Given the description of an element on the screen output the (x, y) to click on. 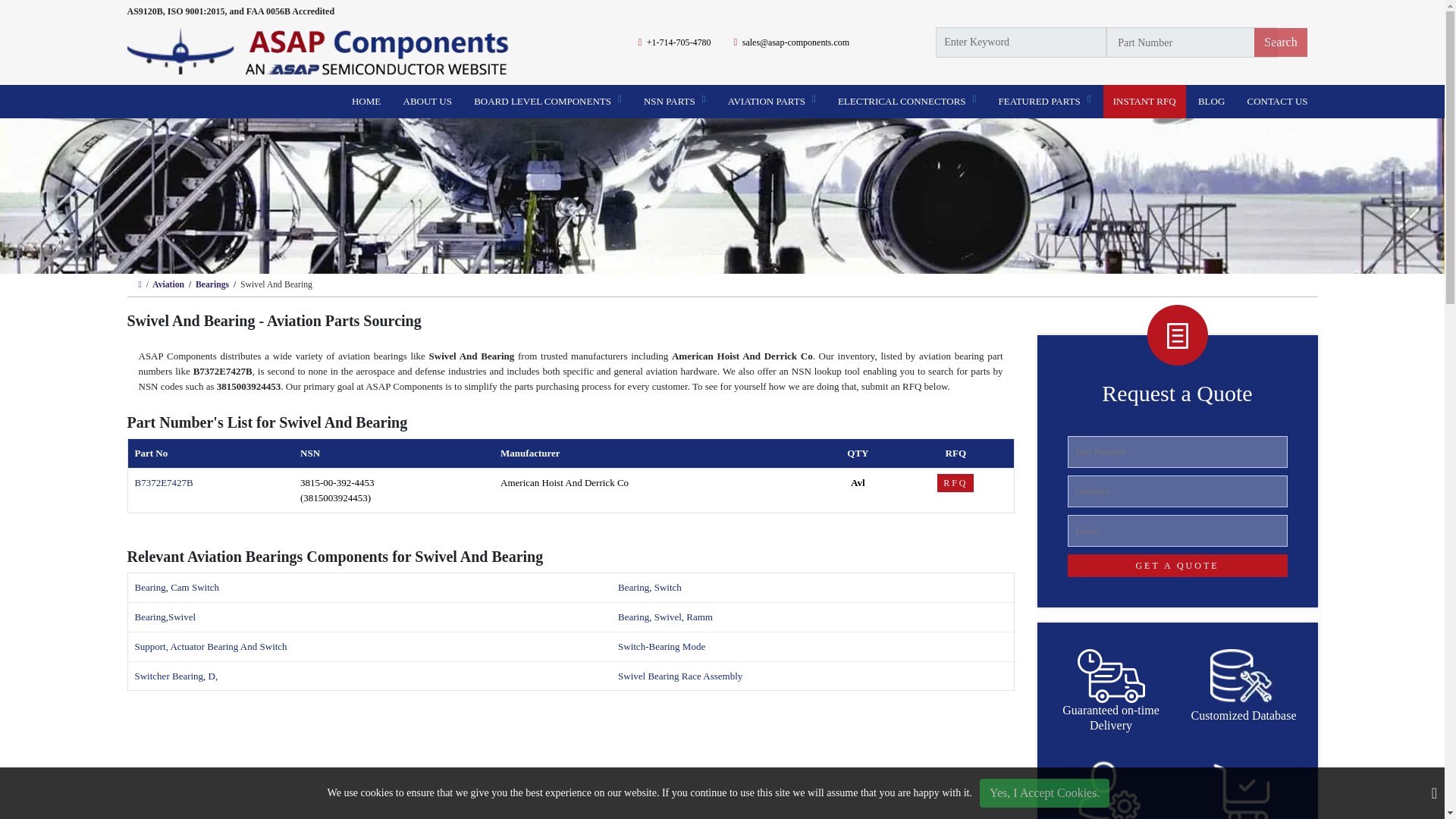
INSTANT RFQ (1144, 101)
CONTACT US (1277, 101)
ELECTRICAL CONNECTORS (906, 101)
Search (1280, 41)
NSN PARTS (674, 101)
BOARD LEVEL COMPONENTS (547, 101)
FEATURED PARTS (1044, 101)
HOME (366, 101)
BLOG (1211, 101)
ABOUT US (427, 101)
AVIATION PARTS (771, 101)
